Given the description of an element on the screen output the (x, y) to click on. 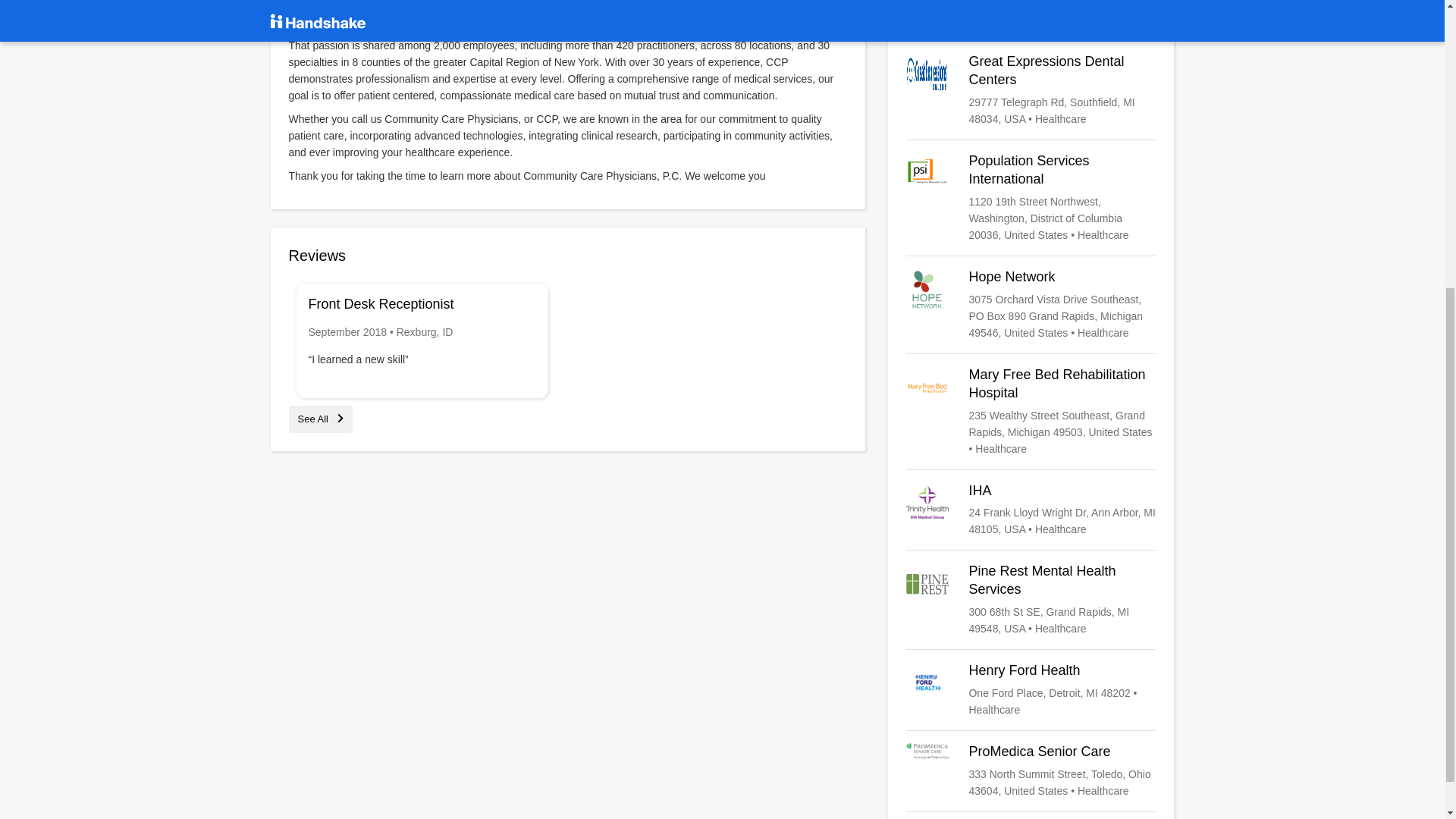
Pine Rest Mental Health Services (1030, 599)
Cigna Group (1030, 13)
Population Services International (1030, 197)
Henry Ford Health (1030, 689)
IHA (1030, 510)
Great Expressions Dental Centers (1030, 90)
Hope Network (1030, 304)
Mary Free Bed Rehabilitation Hospital (1030, 411)
ProMedica Senior Care (1030, 770)
See All (320, 419)
